Given the description of an element on the screen output the (x, y) to click on. 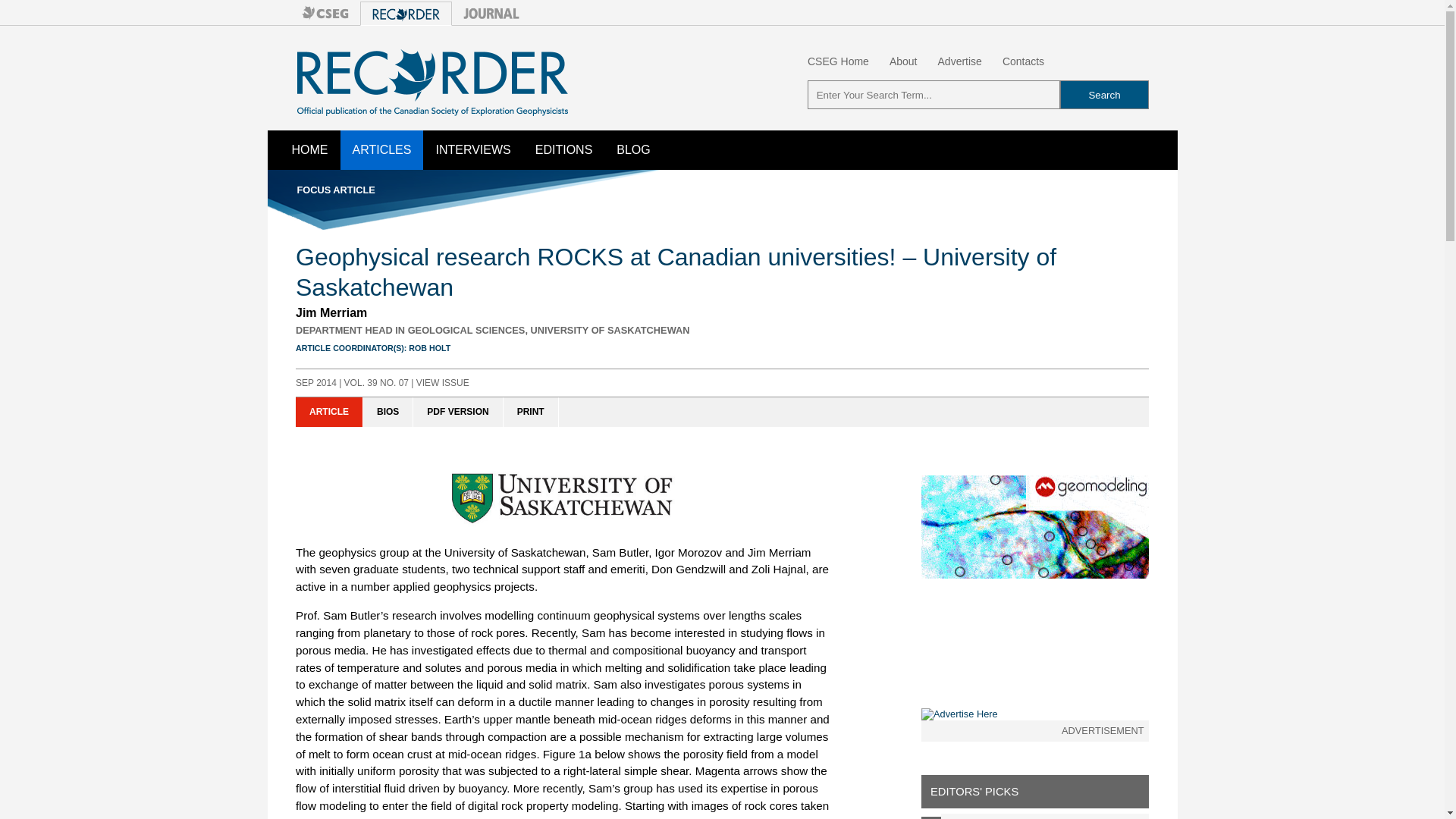
HOME (309, 149)
ARTICLE (328, 411)
Search (1103, 94)
ARTICLES (381, 149)
Search (1103, 94)
About (903, 61)
BLOG (633, 149)
Advertise (959, 61)
CSEG Home (838, 61)
PDF VERSION (457, 411)
